Given the description of an element on the screen output the (x, y) to click on. 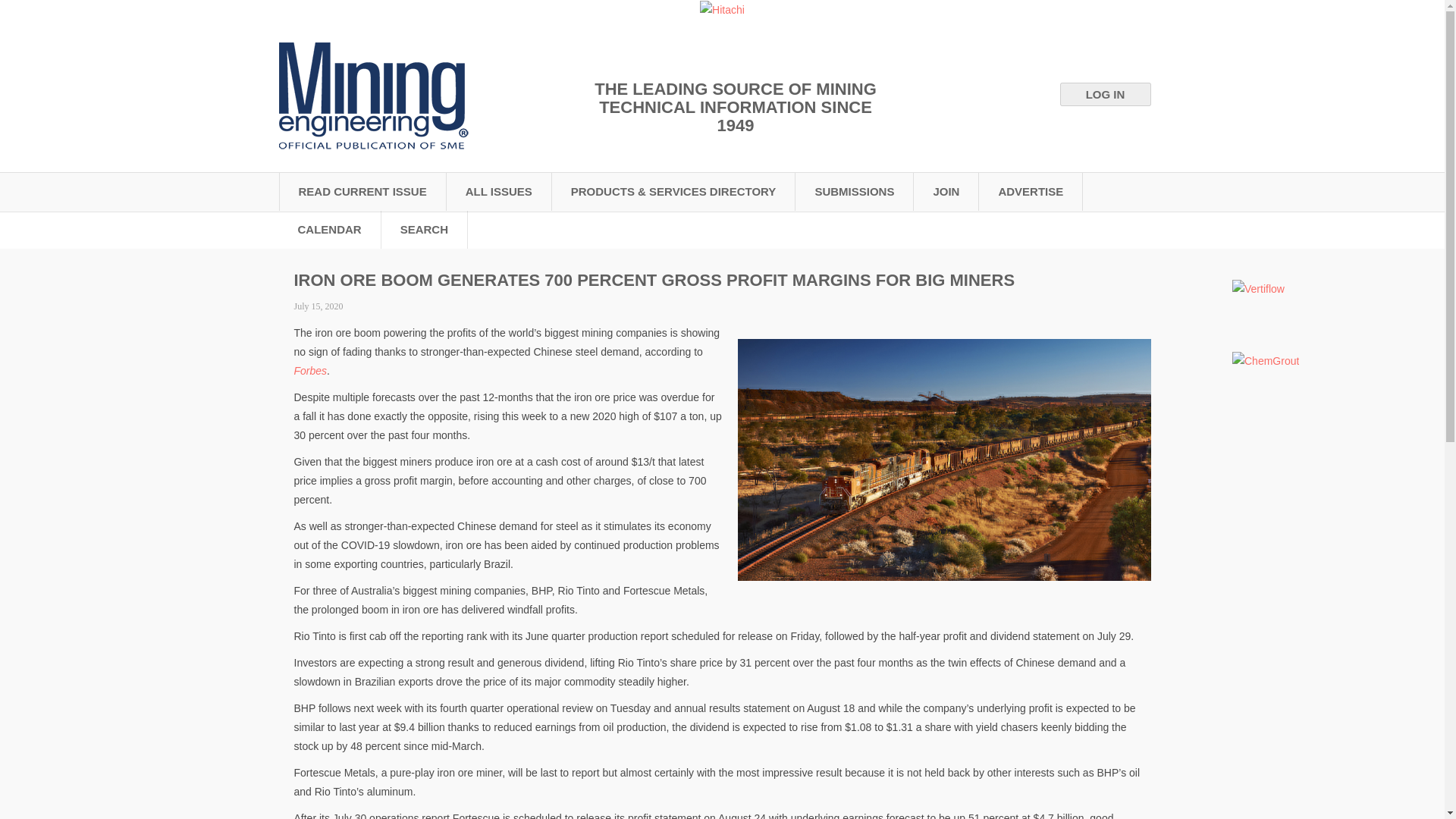
ADVERTISE (1030, 191)
SUBMISSIONS (854, 191)
Forbes (310, 370)
JOIN (946, 191)
ChemGrout (1264, 361)
CALENDAR (330, 229)
READ CURRENT ISSUE (362, 191)
Log In (1105, 94)
Hitachi (722, 9)
Log In (1105, 94)
